Given the description of an element on the screen output the (x, y) to click on. 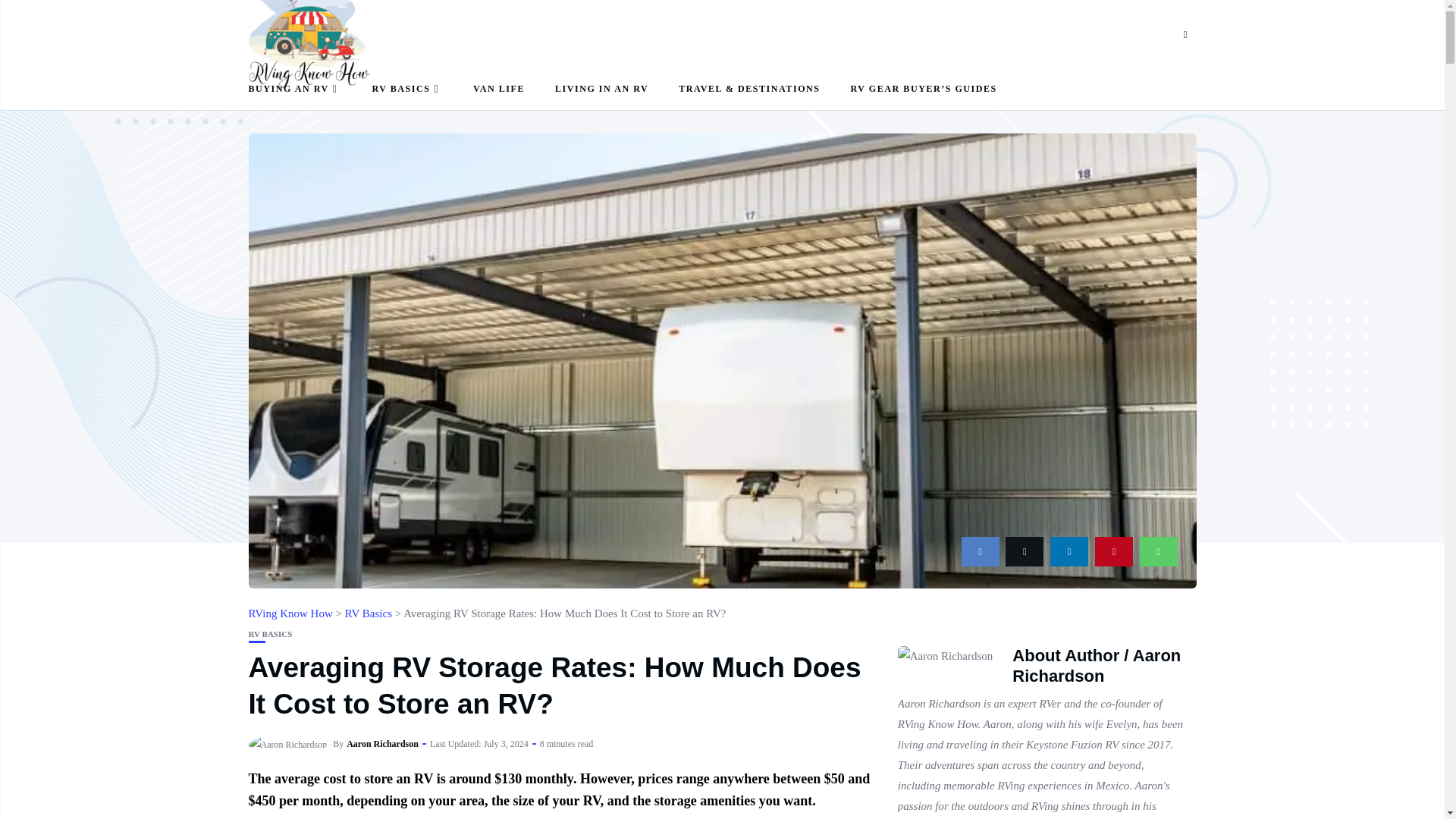
LIVING IN AN RV (600, 88)
Aaron Richardson (382, 743)
BUYING AN RV (295, 88)
Aaron Richardson (287, 744)
RV BASICS (406, 88)
Posts by Aaron Richardson (382, 743)
RV BASICS (270, 633)
RVing Know How (290, 613)
RV Basics (368, 613)
facebook (979, 551)
VAN LIFE (498, 88)
